Given the description of an element on the screen output the (x, y) to click on. 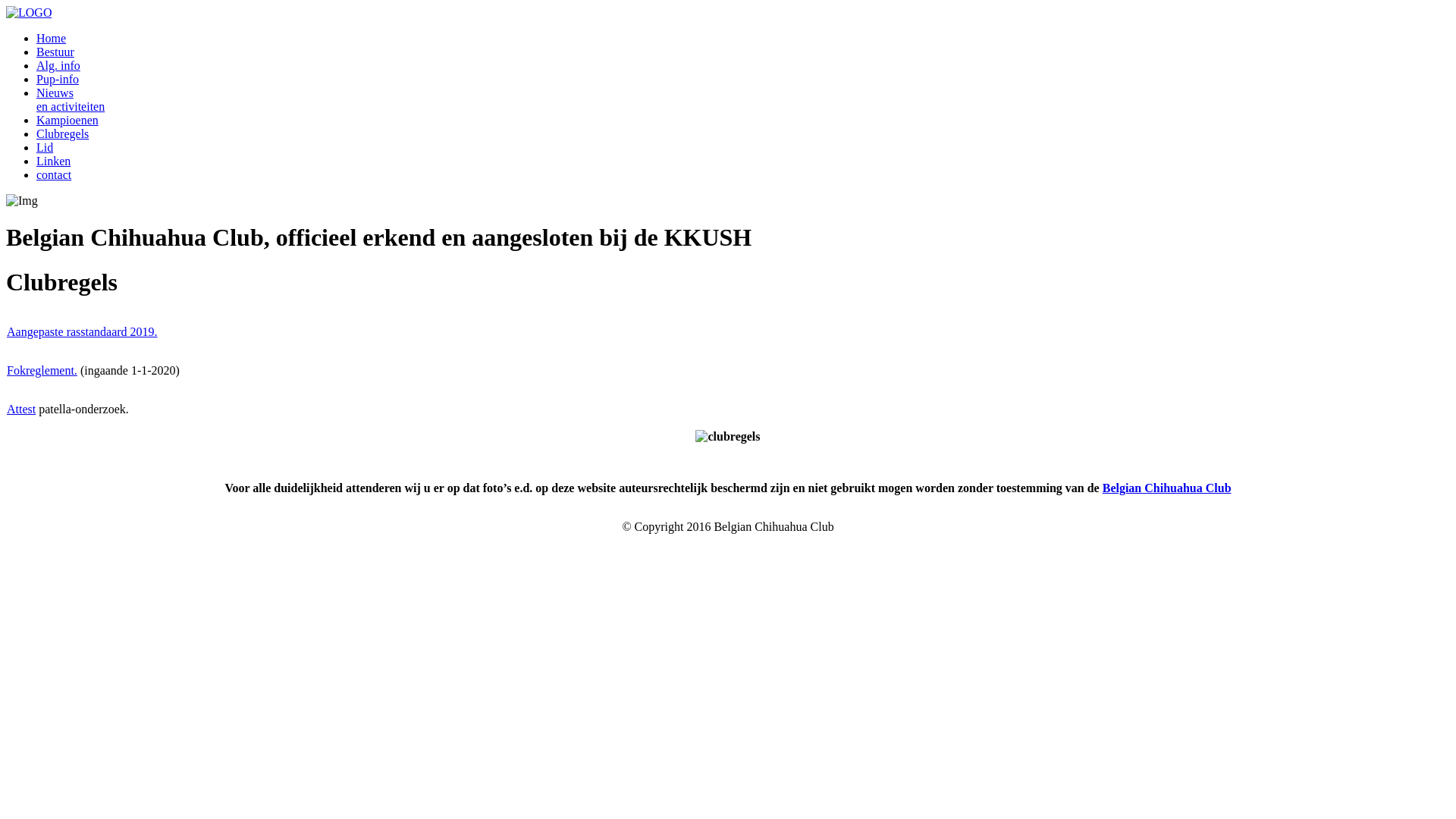
Belgian Chihuahua Club Element type: text (1166, 487)
en activiteiten Element type: text (70, 106)
Attest Element type: text (20, 408)
Home Element type: text (50, 37)
Alg. info Element type: text (58, 65)
Pup-info Element type: text (57, 78)
Aangepaste rasstandaard 2019. Element type: text (81, 331)
Linken Element type: text (53, 160)
Fokreglement. Element type: text (41, 370)
Bestuur Element type: text (55, 51)
Kampioenen Element type: text (67, 119)
contact Element type: text (53, 174)
Nieuws Element type: text (54, 92)
Lid Element type: text (44, 147)
Clubregels Element type: text (62, 133)
